Given the description of an element on the screen output the (x, y) to click on. 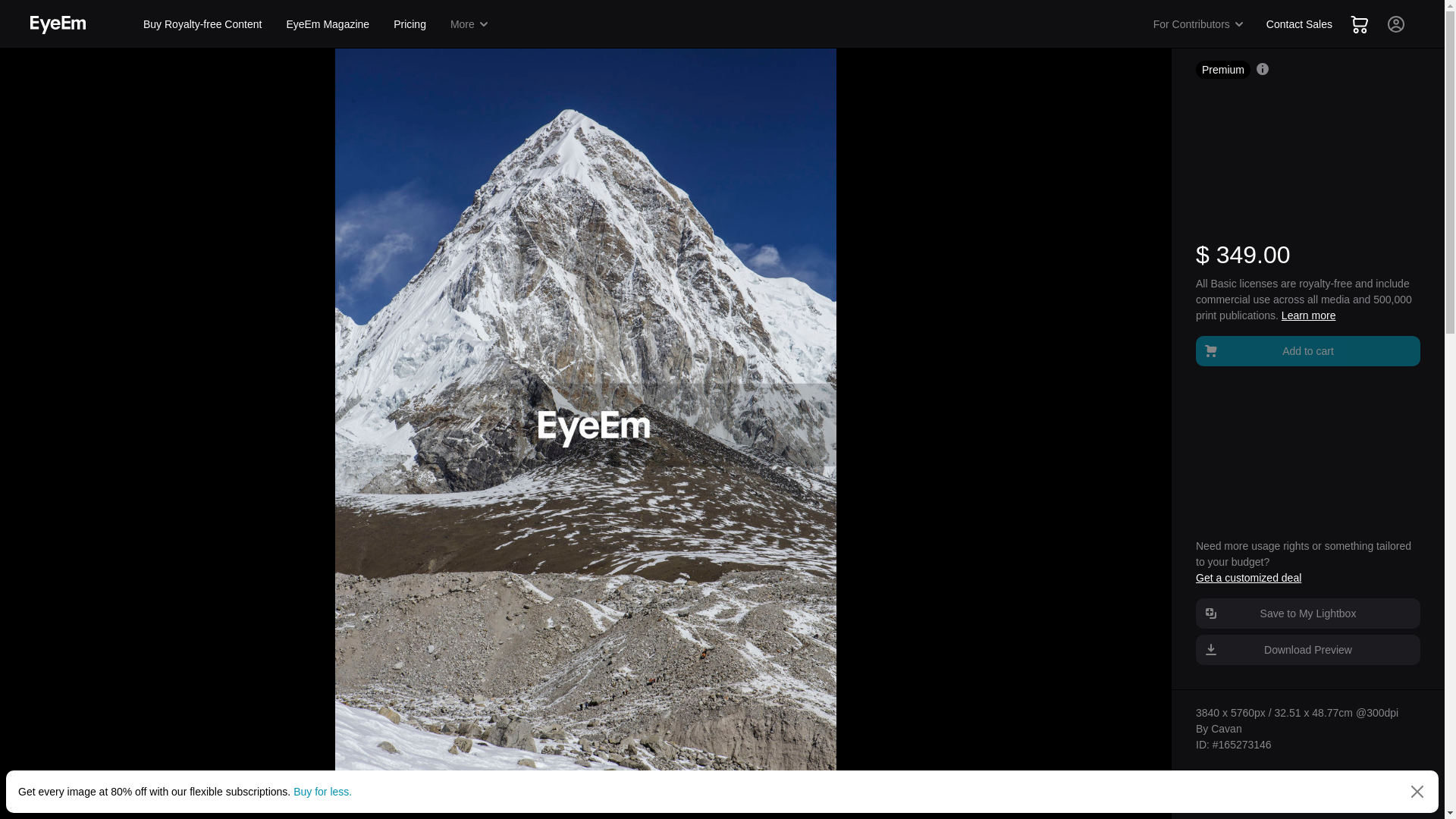
Buy Royalty-free Content (201, 24)
For Contributors (1198, 24)
Contact Sales (1298, 24)
Download Preview (1308, 649)
By Cavan (1218, 727)
Add to cart (1308, 349)
Cart (1358, 24)
More (470, 24)
Pricing (409, 24)
Buy for less. (323, 791)
